Given the description of an element on the screen output the (x, y) to click on. 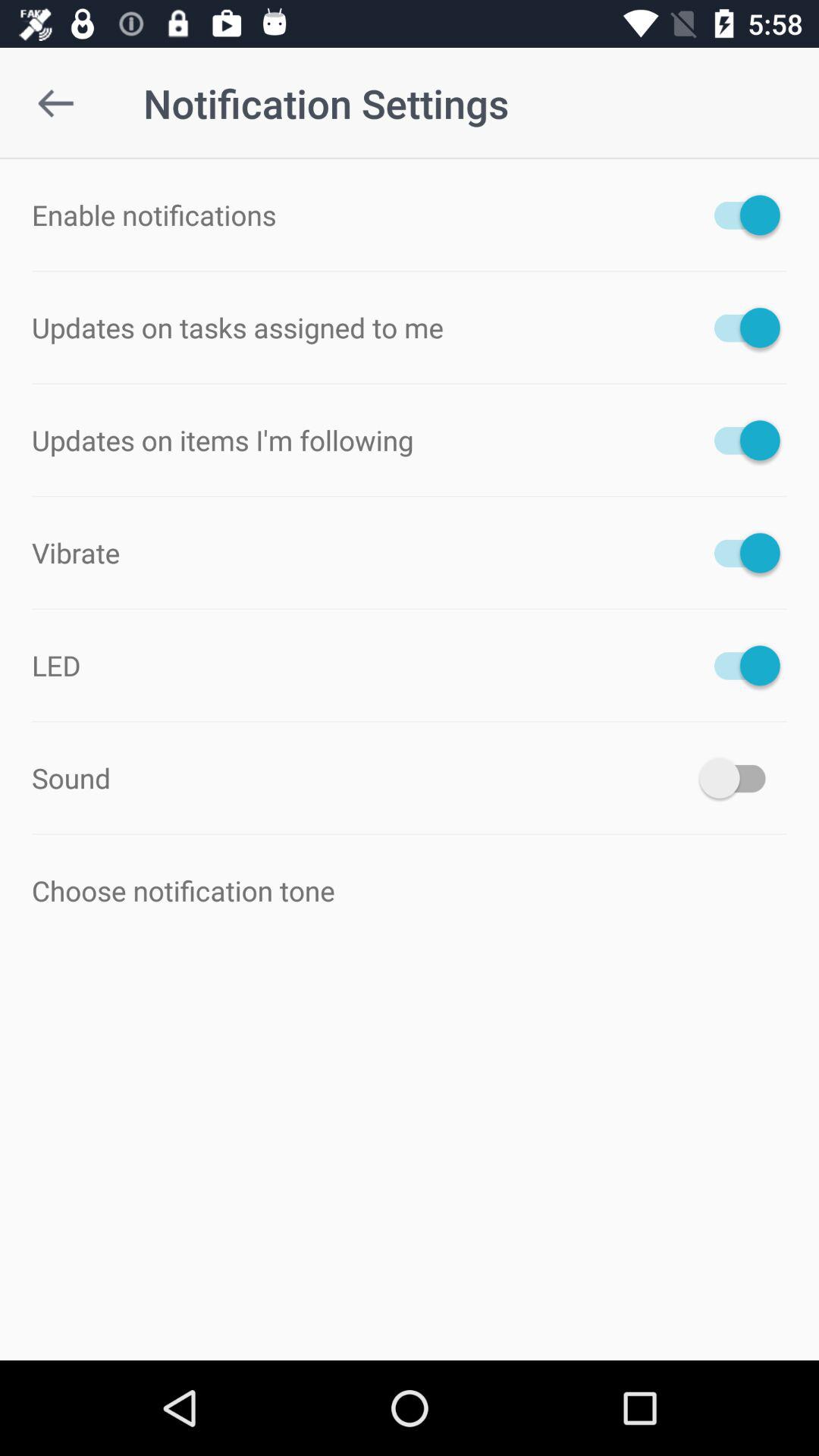
tap icon to the right of updates on tasks item (739, 327)
